Given the description of an element on the screen output the (x, y) to click on. 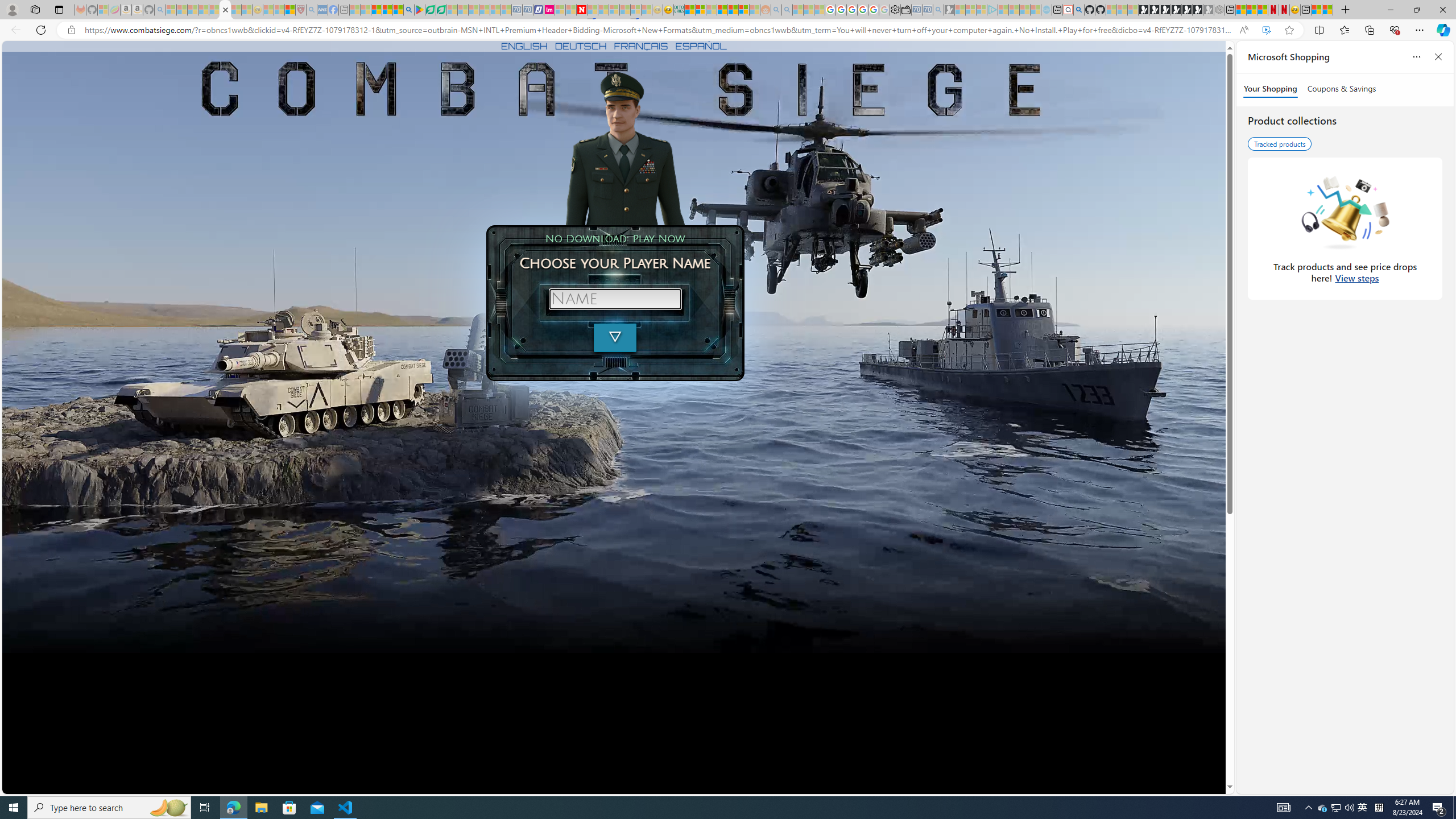
Cheap Car Rentals - Save70.com - Sleeping (927, 9)
Robert H. Shmerling, MD - Harvard Health - Sleeping (301, 9)
Bluey: Let's Play! - Apps on Google Play (419, 9)
New Report Confirms 2023 Was Record Hot | Watch - Sleeping (213, 9)
Microsoft-Report a Concern to Bing - Sleeping (103, 9)
